Given the description of an element on the screen output the (x, y) to click on. 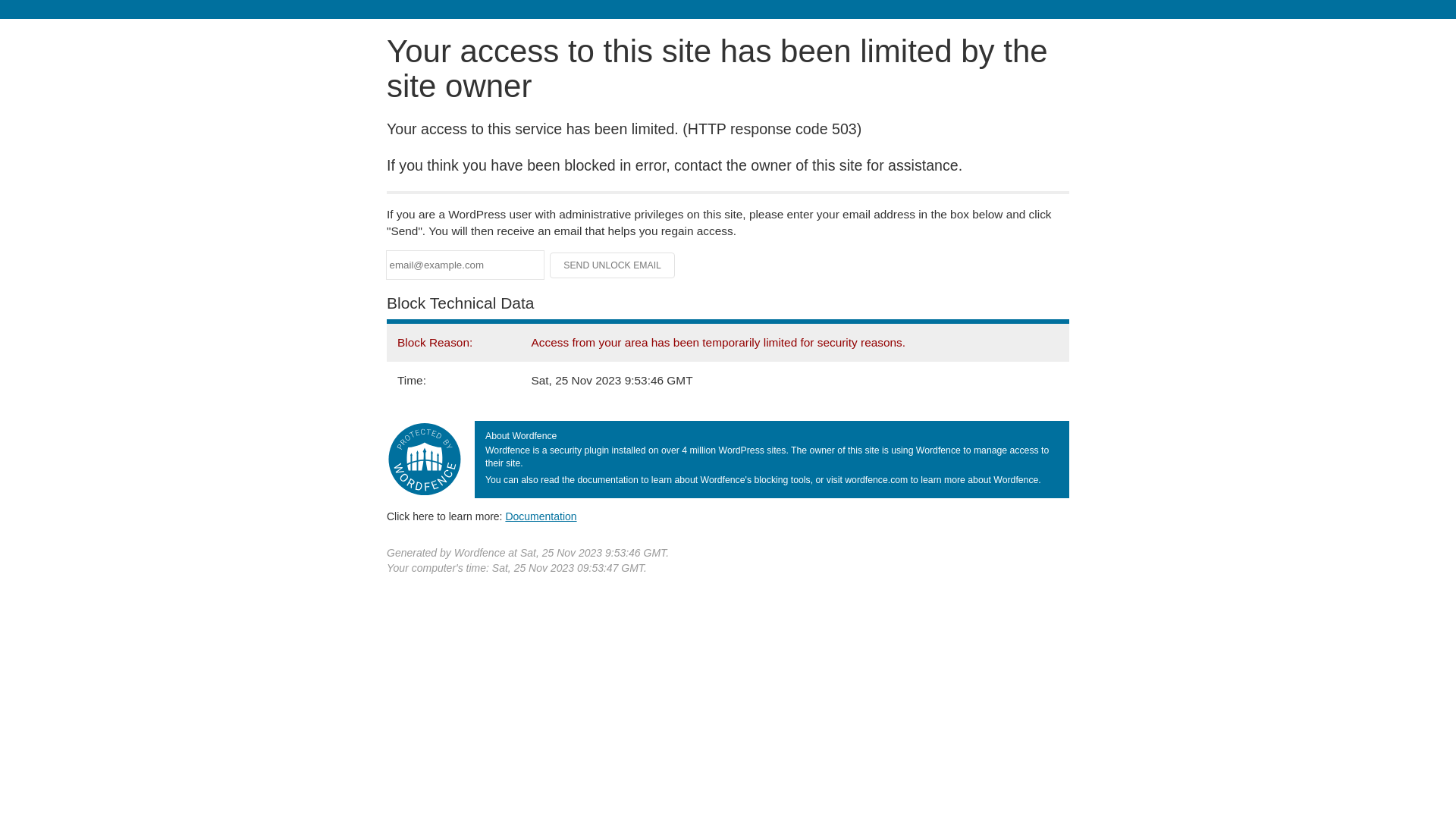
Documentation Element type: text (540, 516)
Send Unlock Email Element type: text (612, 265)
